Given the description of an element on the screen output the (x, y) to click on. 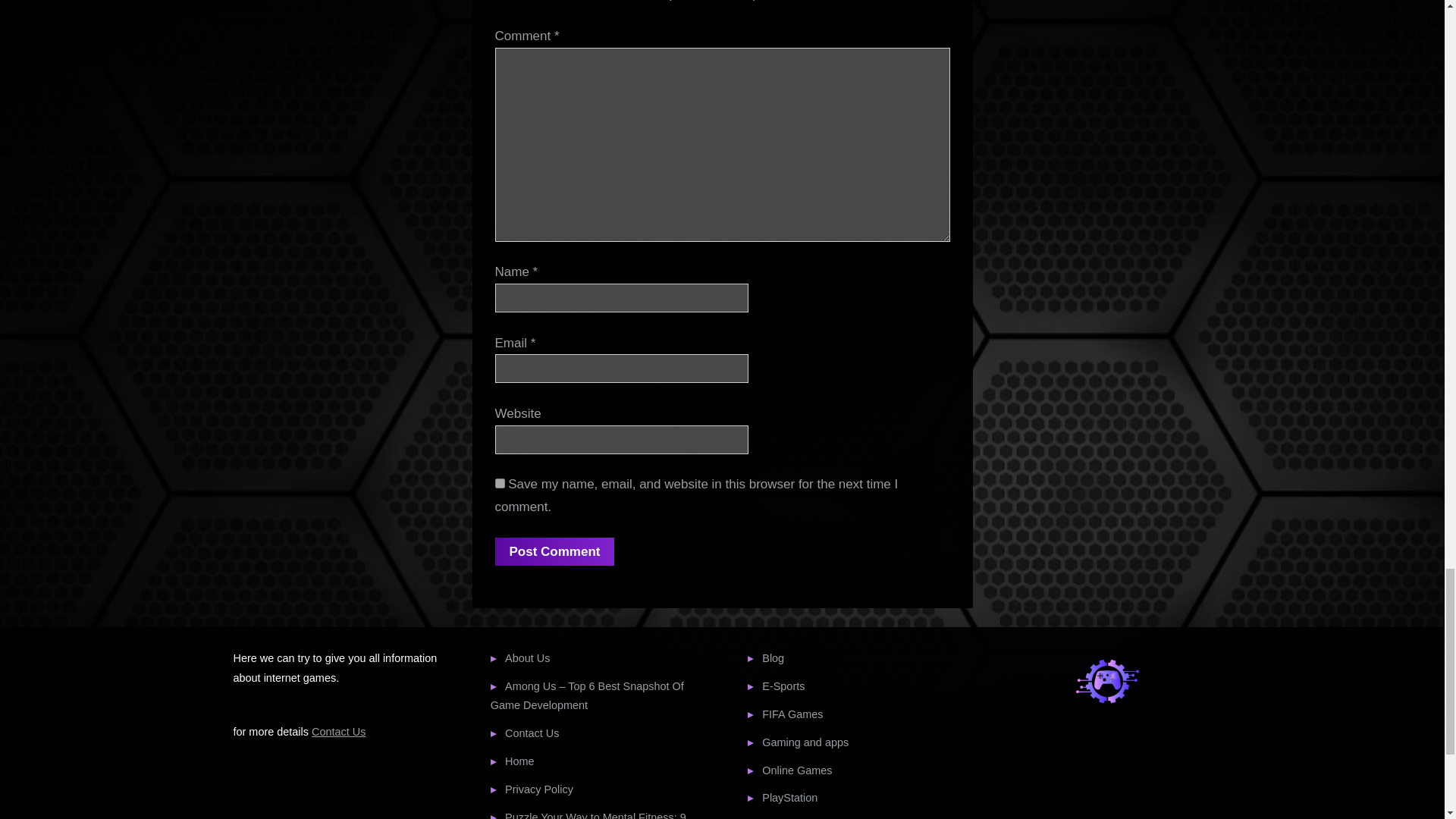
Post Comment (554, 551)
yes (499, 483)
Post Comment (554, 551)
